Given the description of an element on the screen output the (x, y) to click on. 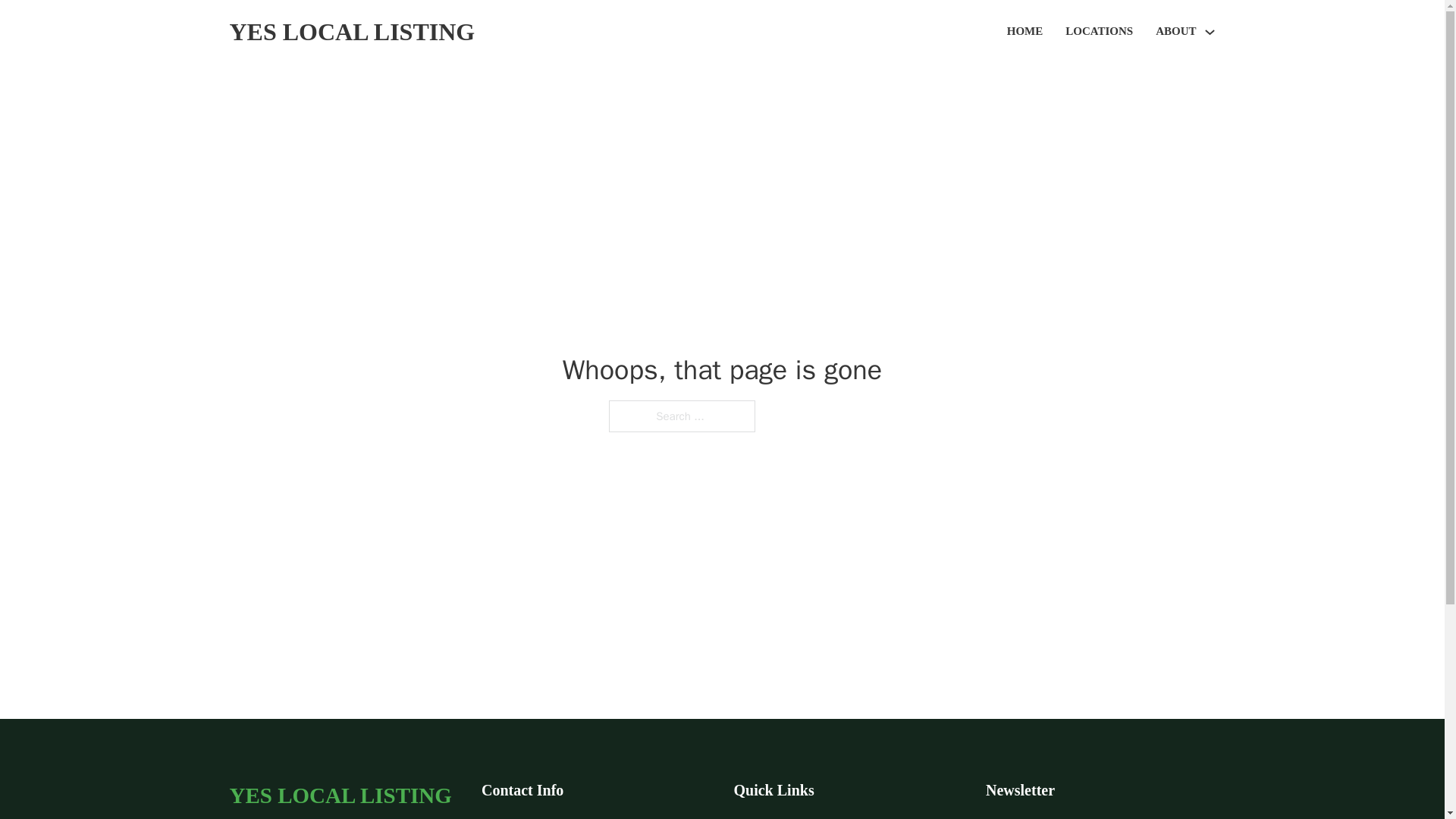
YES LOCAL LISTING (339, 795)
HOME (1025, 31)
YES LOCAL LISTING (351, 31)
LOCATIONS (1098, 31)
